Given the description of an element on the screen output the (x, y) to click on. 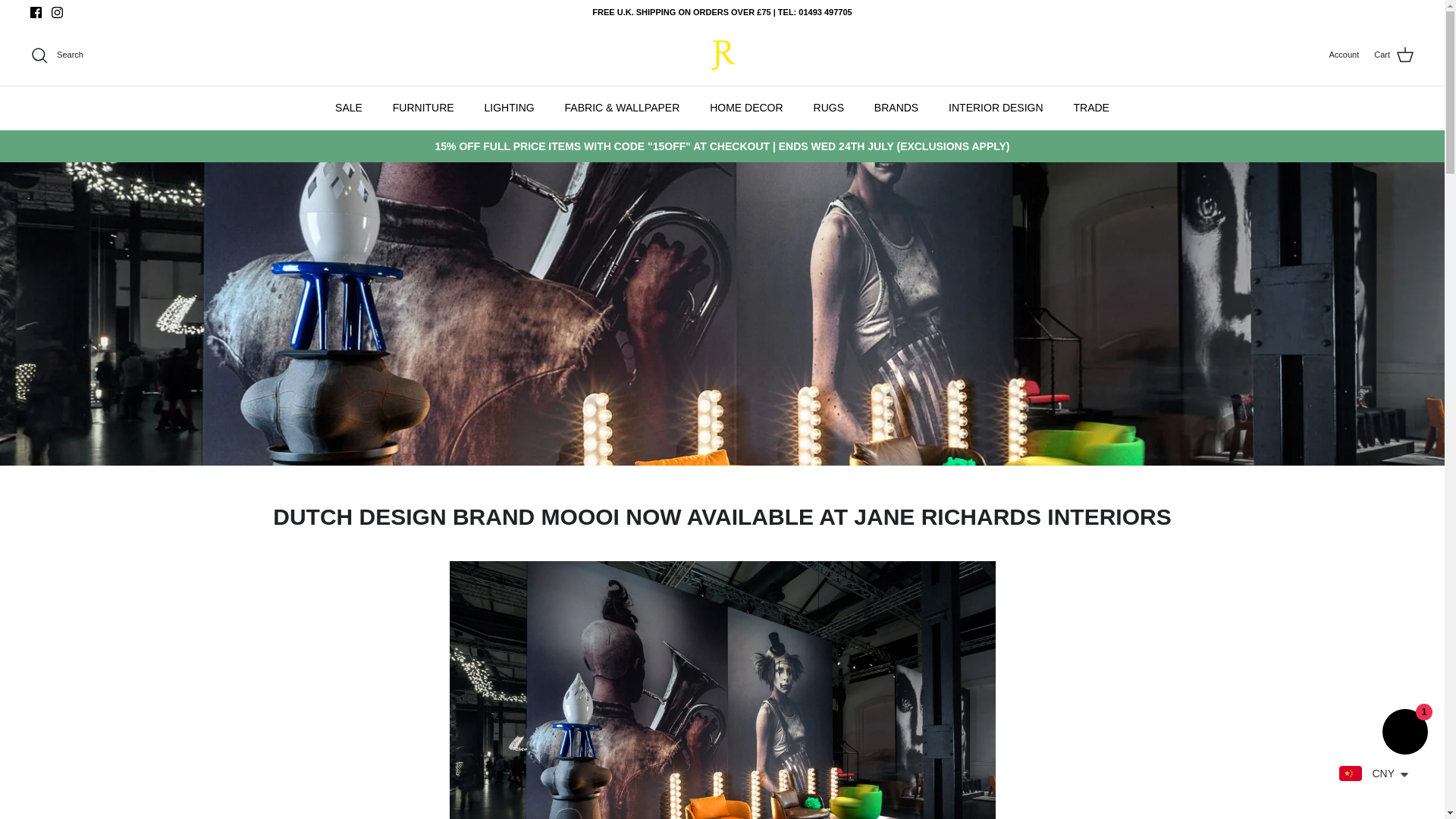
SALE (348, 107)
Shopify online store chat (1404, 733)
Account (1342, 55)
Instagram (56, 12)
FURNITURE (422, 107)
Cart (1393, 55)
Search (56, 54)
Facebook (36, 12)
Jane Richards Interiors (721, 55)
Facebook (36, 12)
Instagram (56, 12)
